Given the description of an element on the screen output the (x, y) to click on. 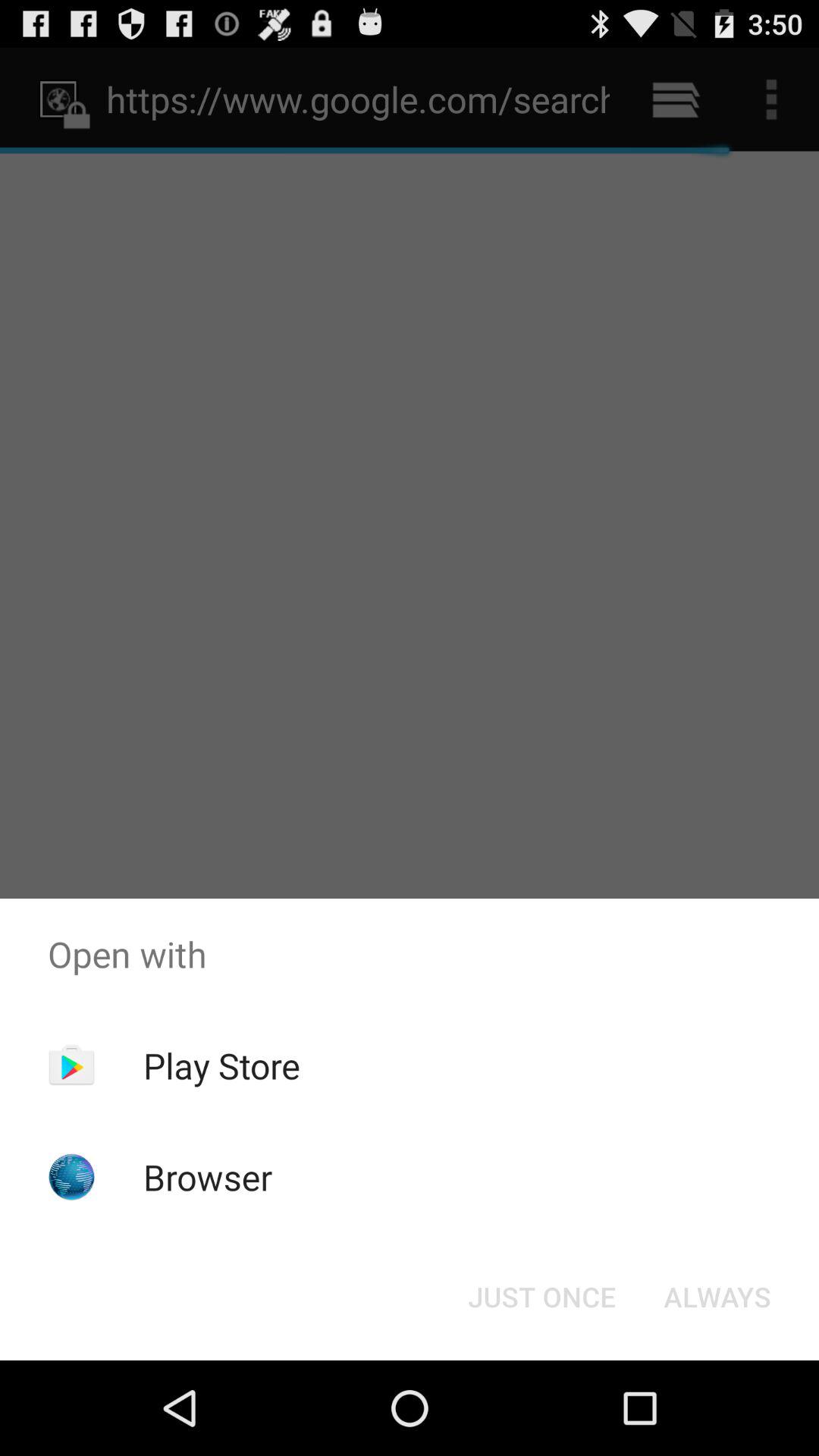
choose play store (221, 1065)
